Given the description of an element on the screen output the (x, y) to click on. 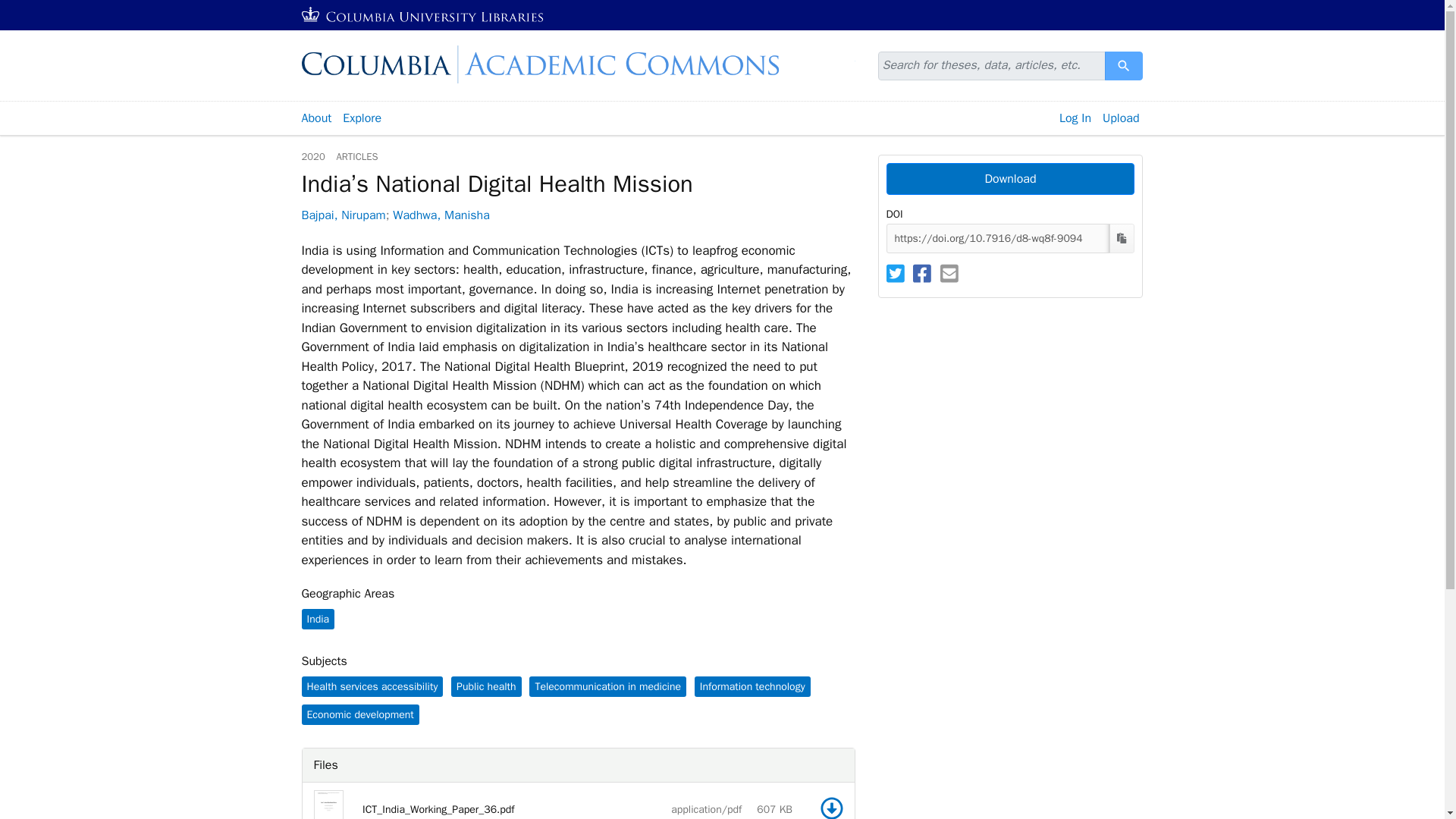
Economic development (360, 714)
Wadhwa, Manisha (441, 215)
Download (1009, 178)
Skip to main content (39, 9)
Log In (1074, 118)
Download file (832, 807)
Search (1123, 65)
Explore (362, 118)
Download file (832, 807)
Academic Commons (578, 64)
Bajpai, Nirupam (343, 215)
Upload (1120, 118)
Public health (486, 686)
Columbia University Libraries (422, 14)
India (317, 619)
